Given the description of an element on the screen output the (x, y) to click on. 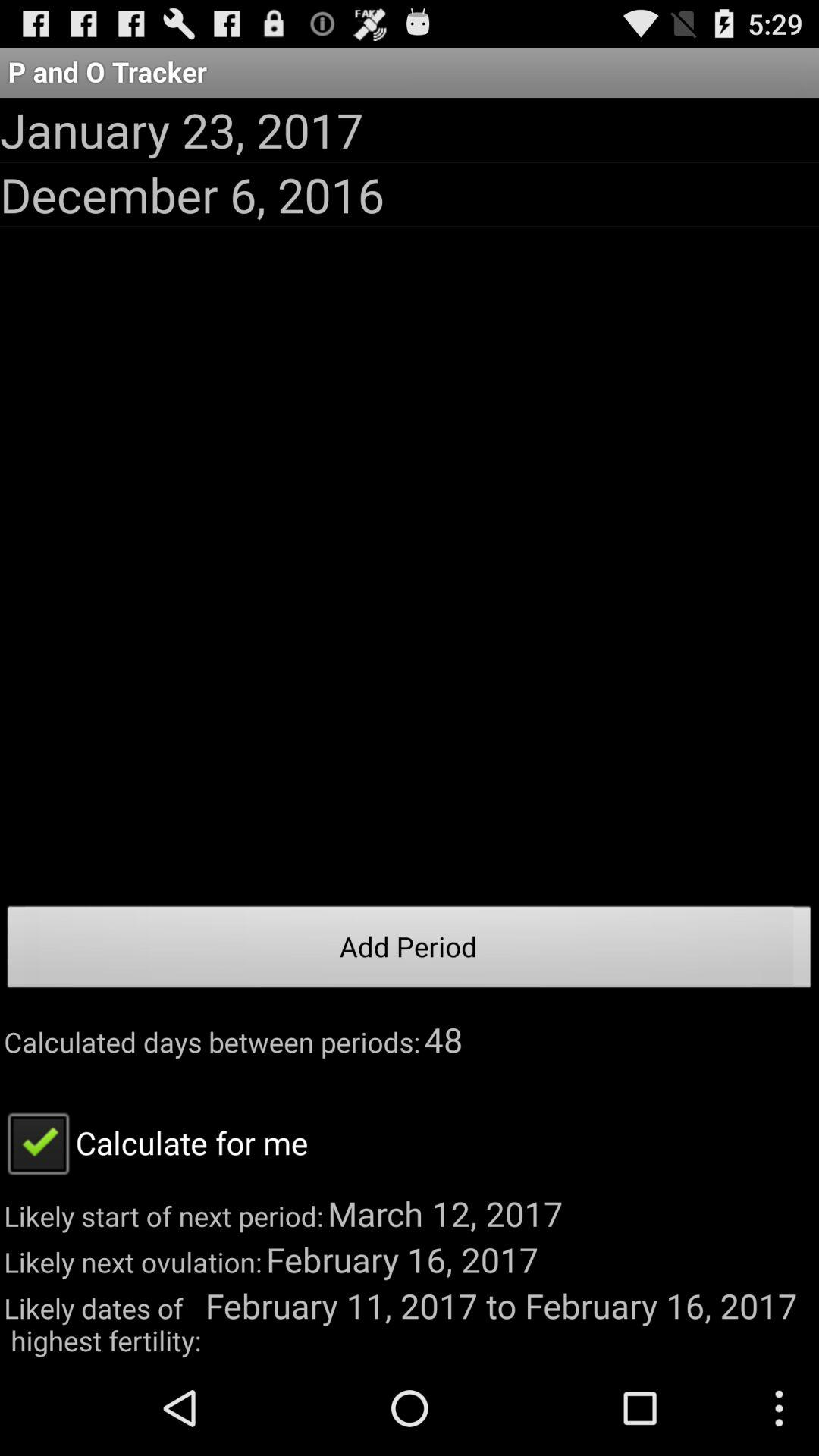
press app below december 6, 2016 icon (409, 951)
